Given the description of an element on the screen output the (x, y) to click on. 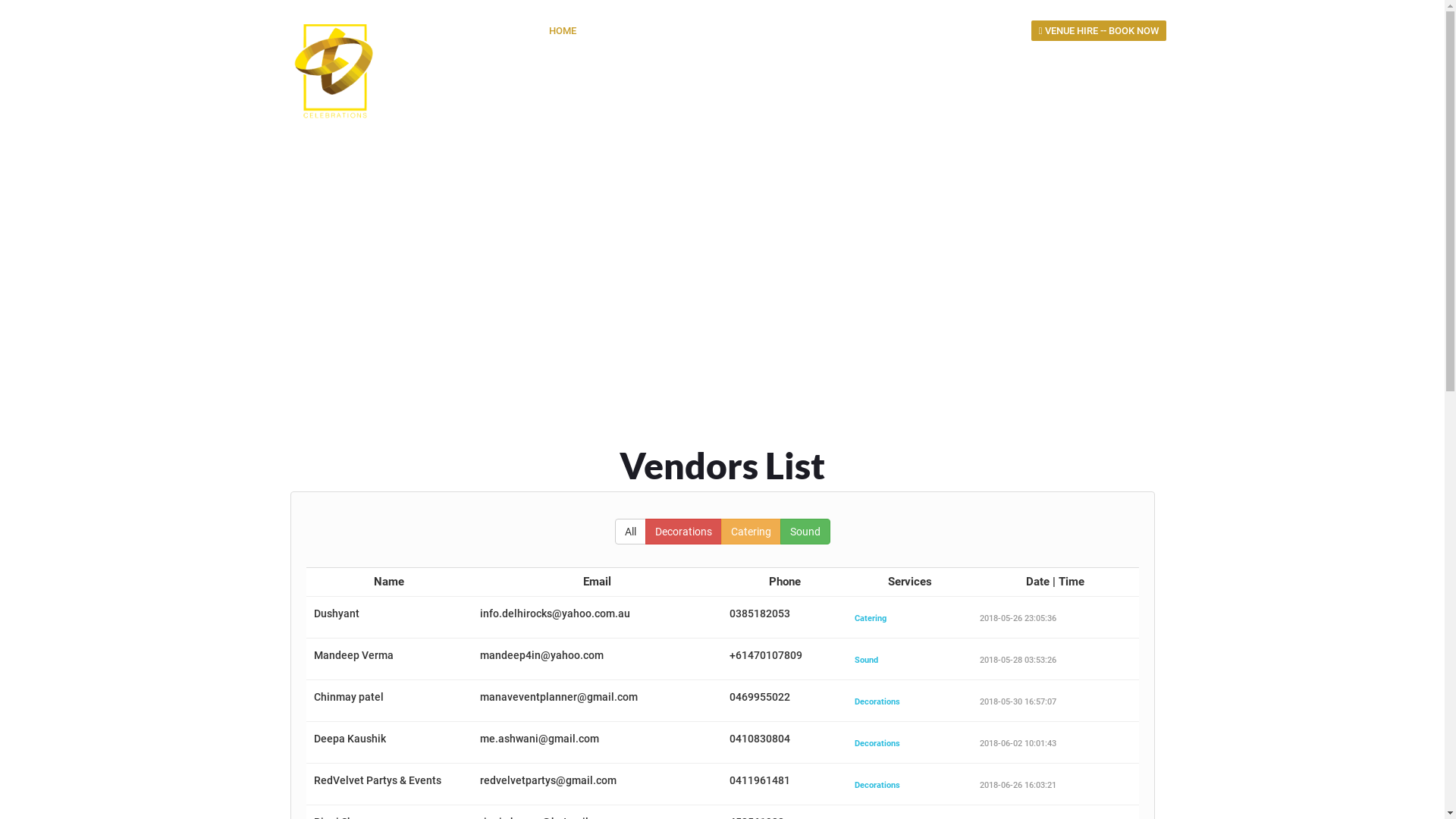
Decorations Element type: text (682, 531)
GALLERY Element type: text (795, 30)
Catering Element type: text (750, 531)
Sound Element type: text (804, 531)
HOME Element type: text (562, 30)
VENDORS Element type: text (868, 30)
CONTACT Element type: text (990, 30)
ABOUT US Element type: text (624, 30)
HOW IT WORKS? Element type: text (710, 30)
VENUE HIRE -- BOOK NOW Element type: text (1098, 30)
BLOG Element type: text (930, 30)
All Element type: text (629, 531)
